Given the description of an element on the screen output the (x, y) to click on. 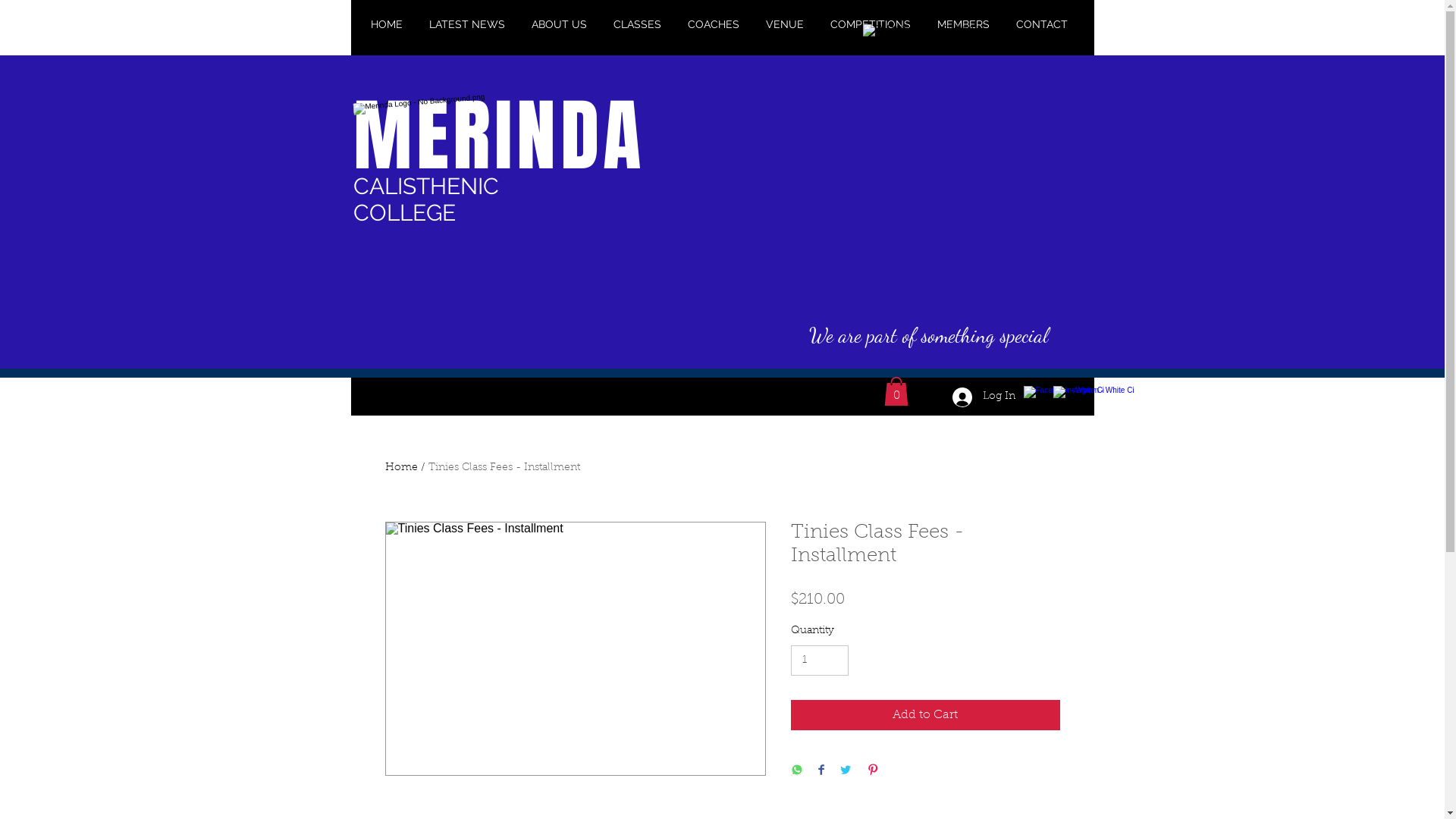
Home Element type: text (401, 467)
COACHES Element type: text (715, 24)
0 Element type: text (896, 390)
Log In Element type: text (972, 396)
Add to Cart Element type: text (924, 714)
CONTACT Element type: text (1043, 24)
MERINDA Element type: text (498, 136)
Tinies Class Fees - Installment Element type: text (503, 467)
HOME Element type: text (388, 24)
CLASSES Element type: text (639, 24)
ABOUT US Element type: text (561, 24)
COMPETITIONS Element type: text (872, 24)
VENUE Element type: text (785, 24)
LATEST NEWS Element type: text (468, 24)
MEMBERS Element type: text (964, 24)
